Given the description of an element on the screen output the (x, y) to click on. 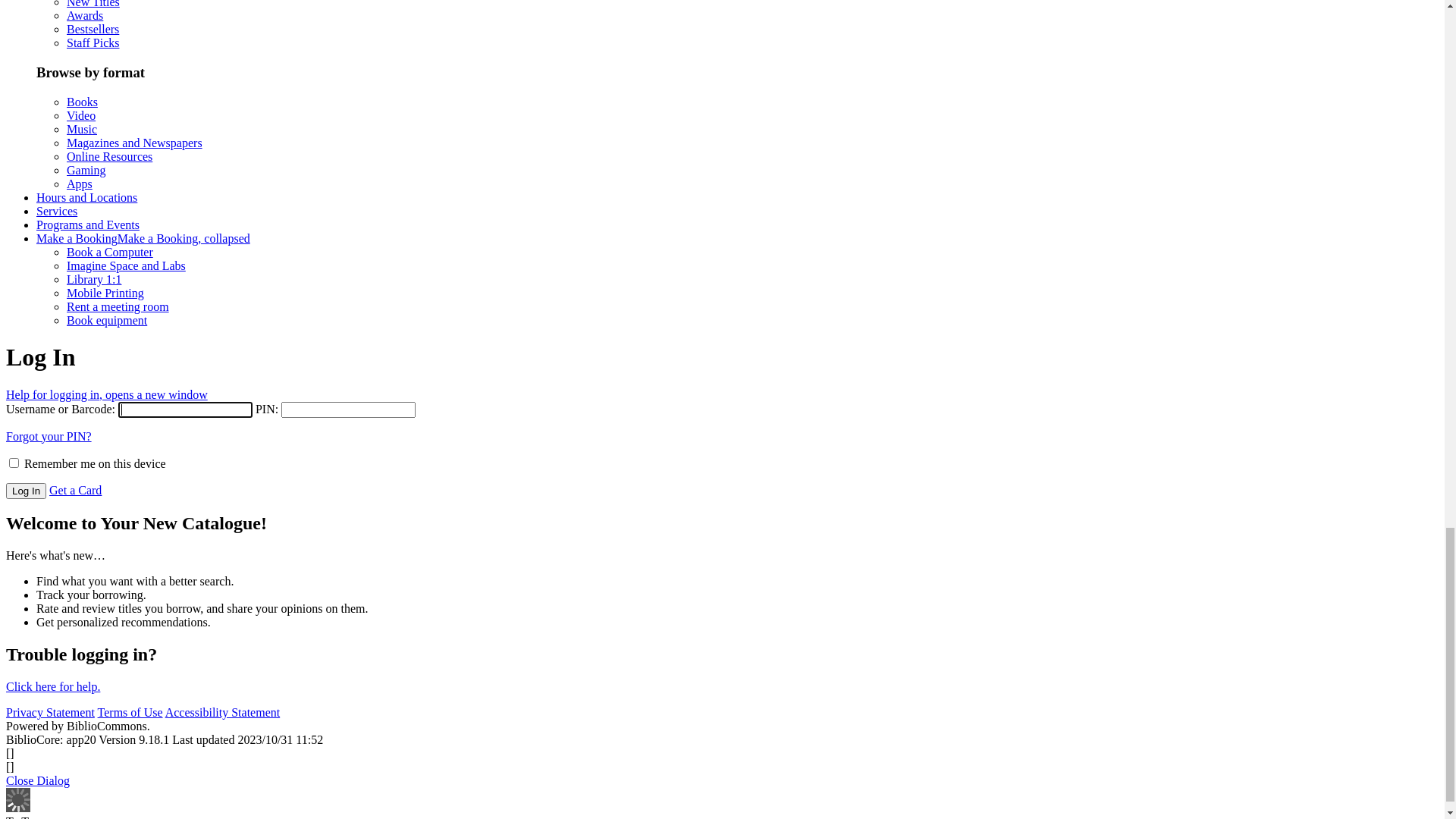
SmartPay Element type: text (59, 429)
Open search form Element type: text (49, 668)
On Hold Element type: text (57, 265)
Lists Element type: text (47, 388)
Checked Out Element type: text (68, 251)
Admin AdminAdmin, collapsed Element type: text (72, 118)
Skip to search Element type: text (352, 12)
ILL Requests Element type: text (68, 306)
Fees Element type: text (47, 292)
Borrowing History Element type: text (82, 279)
Catalogue Element type: text (60, 737)
Website Element type: text (55, 751)
Keyword  Element type: text (33, 807)
My Profile Element type: text (62, 538)
In Progress Shelf Element type: text (77, 374)
Completed Shelf Element type: text (77, 360)
Help Help, opens a new window Element type: text (85, 104)
For Later Shelf Element type: text (73, 347)
Skip to content Element type: text (424, 12)
Main navigation Element type: text (45, 654)
Catalogue  Element type: text (36, 711)
EnglishEnglish, collapsed Element type: text (75, 25)
Skip to main navigation Element type: text (65, 12)
Log In / My OPL User Log In / My OPL. Element type: text (106, 144)
My Settings Element type: text (65, 565)
My bookmarks Element type: text (72, 483)
Log In / Register Element type: text (77, 169)
My room and equipment bookings Element type: text (119, 470)
Skip to search Element type: text (280, 12)
Select language, opens an overlay Element type: text (94, 77)
My event registrations Element type: text (90, 497)
My ILL requests Element type: text (76, 511)
Help Help, opens a new window Element type: text (85, 90)
My Library Dashboard Element type: text (92, 210)
Skip to main navigation Element type: text (184, 12)
